Given the description of an element on the screen output the (x, y) to click on. 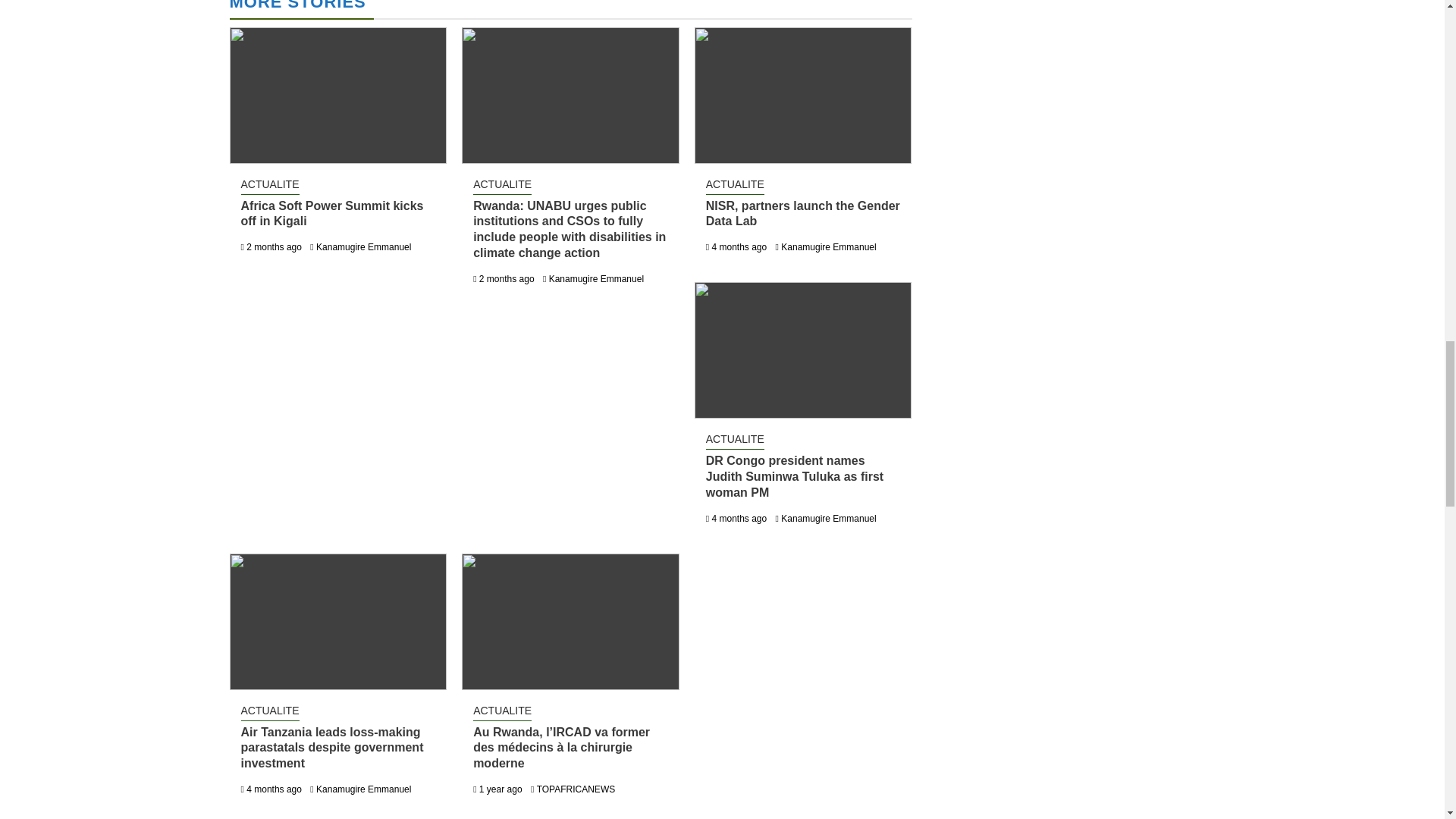
Kanamugire Emmanuel (362, 246)
Kanamugire Emmanuel (828, 246)
ACTUALITE (270, 185)
Africa Soft Power Summit kicks off in Kigali (332, 213)
ACTUALITE (502, 185)
ACTUALITE (735, 185)
Kanamugire Emmanuel (595, 278)
ACTUALITE (735, 440)
Kanamugire Emmanuel (828, 518)
NISR, partners launch the Gender Data Lab (802, 213)
